Given the description of an element on the screen output the (x, y) to click on. 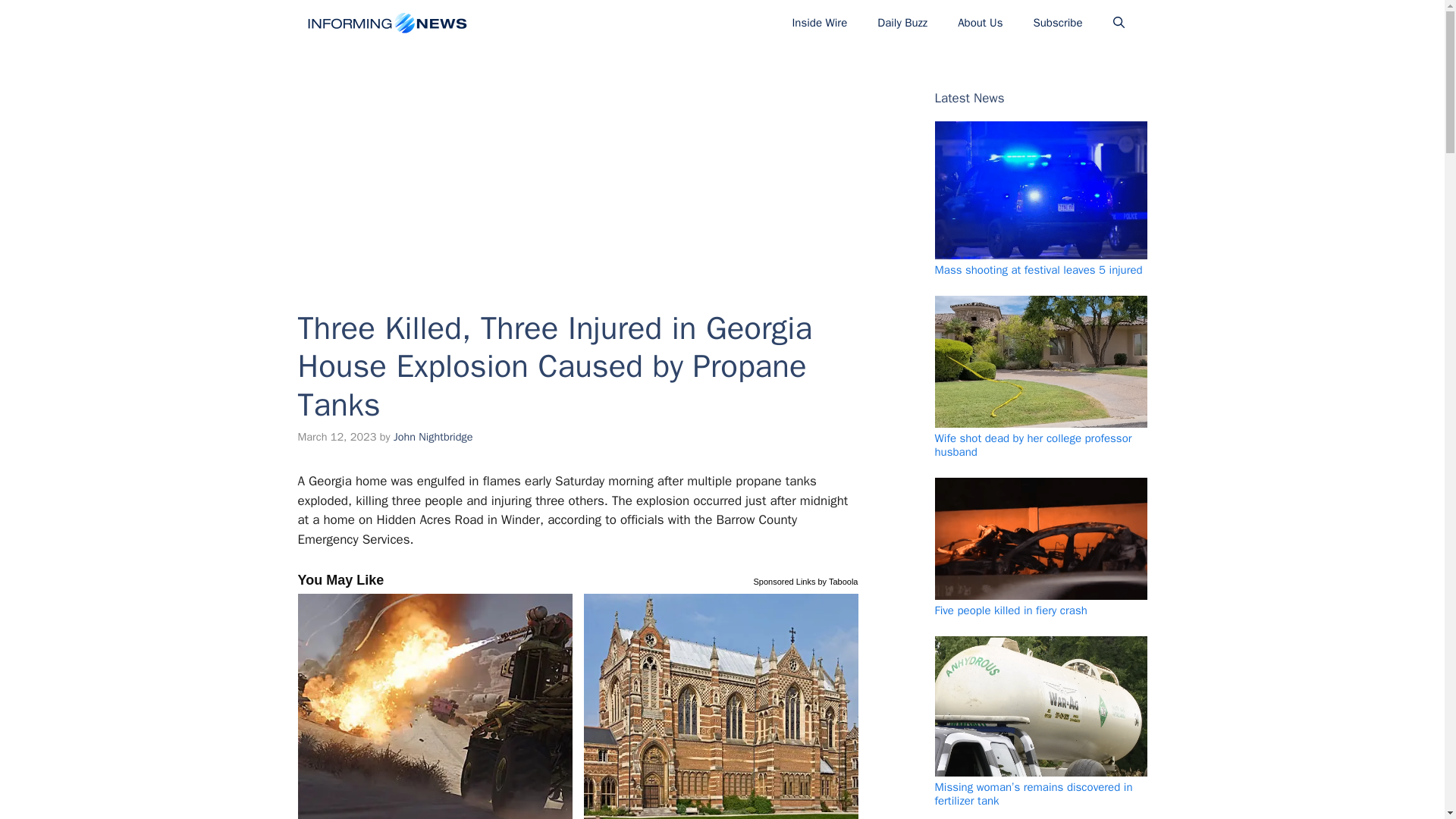
John Nightbridge (433, 436)
Advertisement (577, 166)
by Taboola (836, 580)
Subscribe (1057, 22)
Informing News (385, 22)
About Us (979, 22)
View all posts by John Nightbridge (433, 436)
Inside Wire (818, 22)
Daily Buzz (901, 22)
Sponsored Links (784, 580)
